Given the description of an element on the screen output the (x, y) to click on. 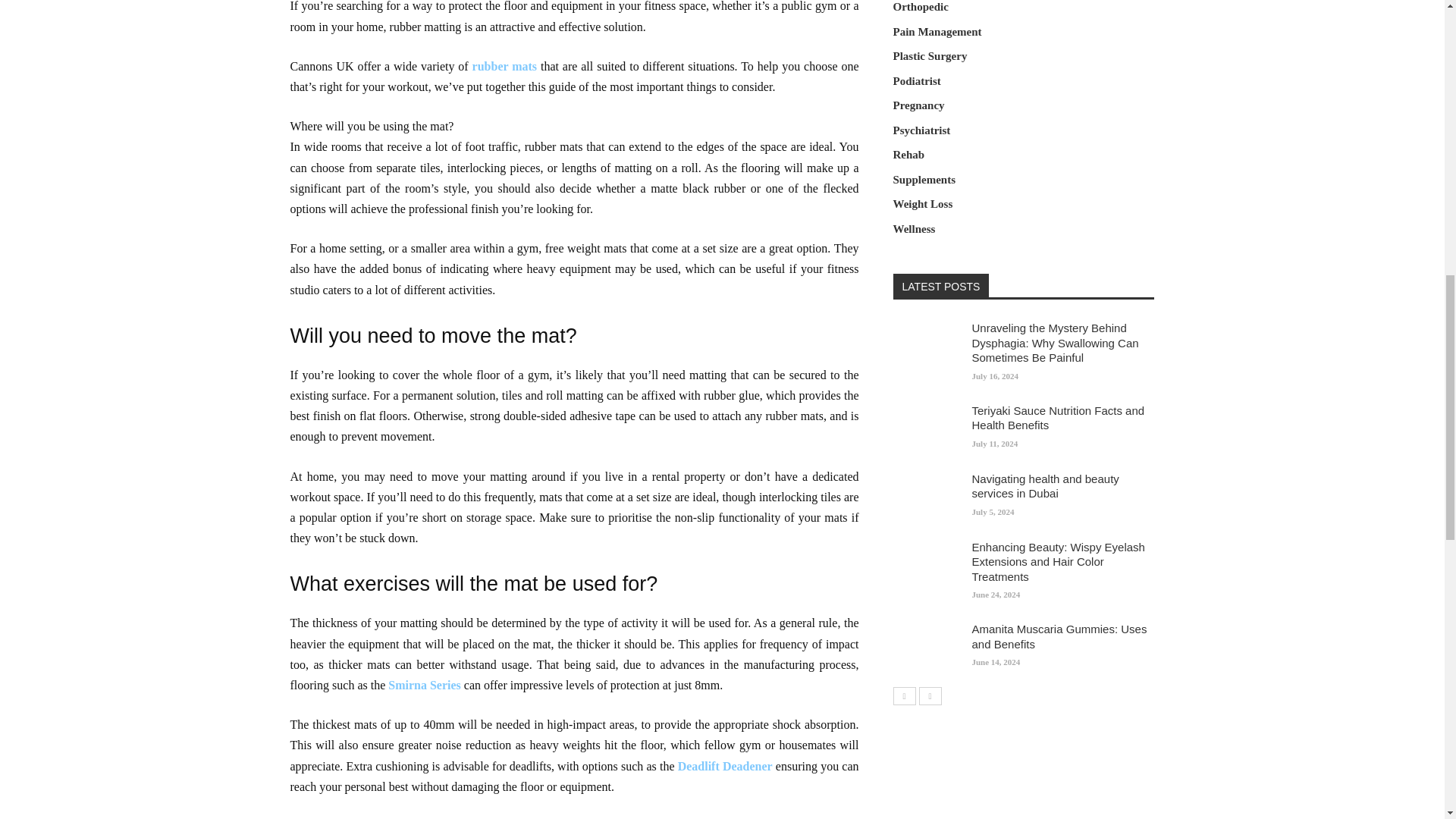
Smirna Series (424, 684)
Deadlift Deadener (725, 766)
rubber mats (504, 65)
Previous (904, 696)
Next (930, 696)
